Given the description of an element on the screen output the (x, y) to click on. 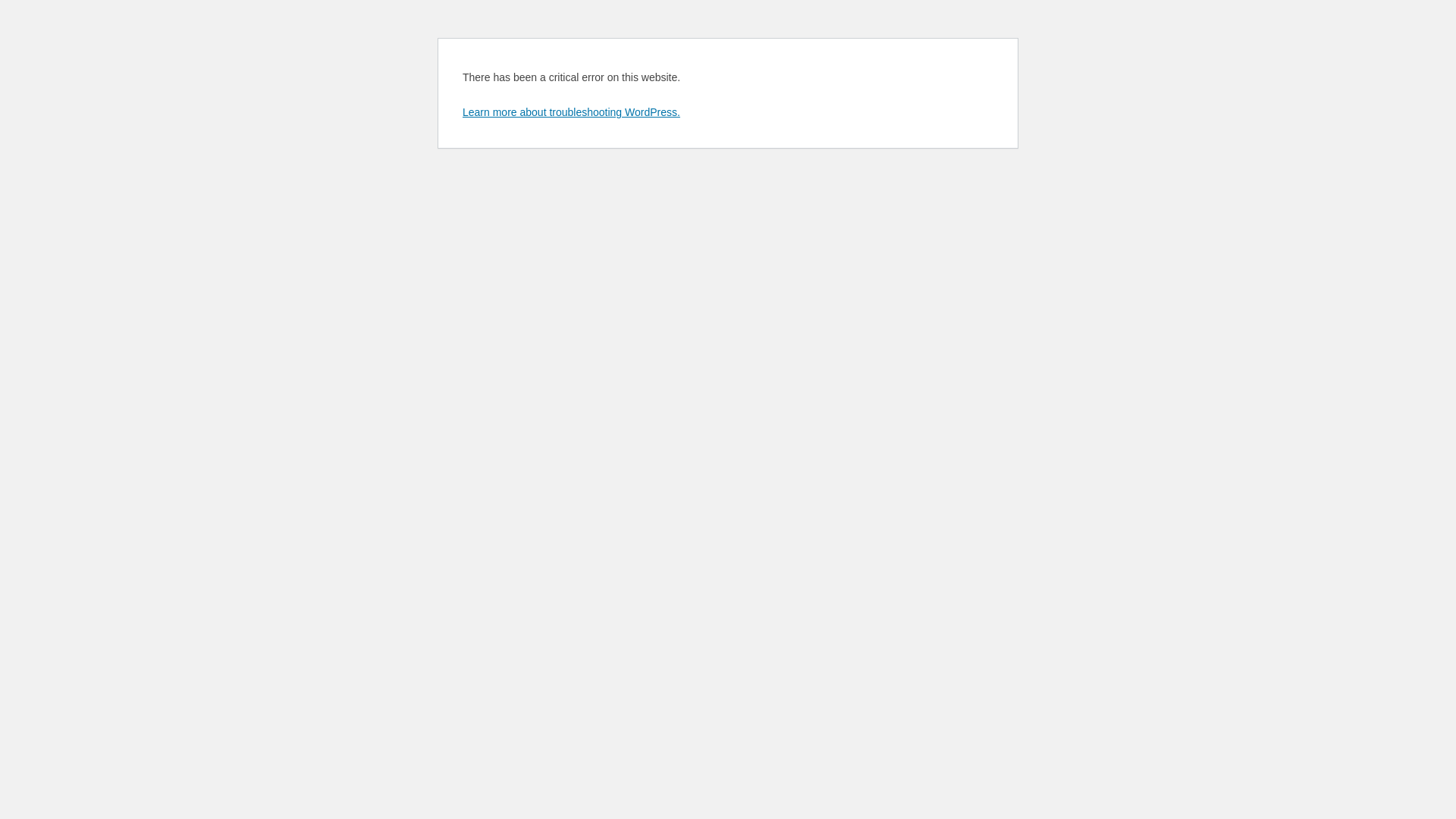
Learn more about troubleshooting WordPress. Element type: text (571, 112)
